Given the description of an element on the screen output the (x, y) to click on. 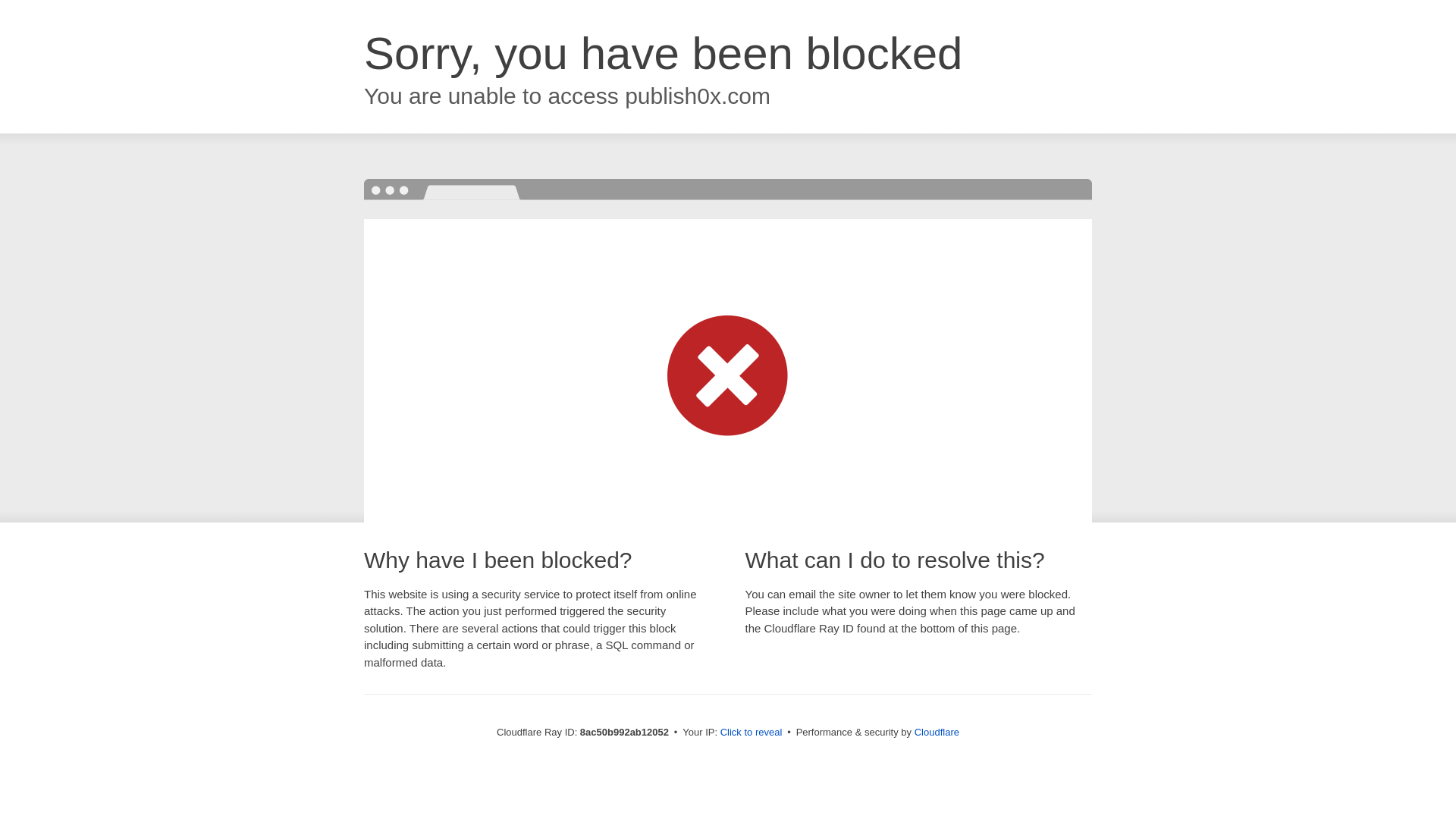
Cloudflare (936, 731)
Click to reveal (751, 732)
